Given the description of an element on the screen output the (x, y) to click on. 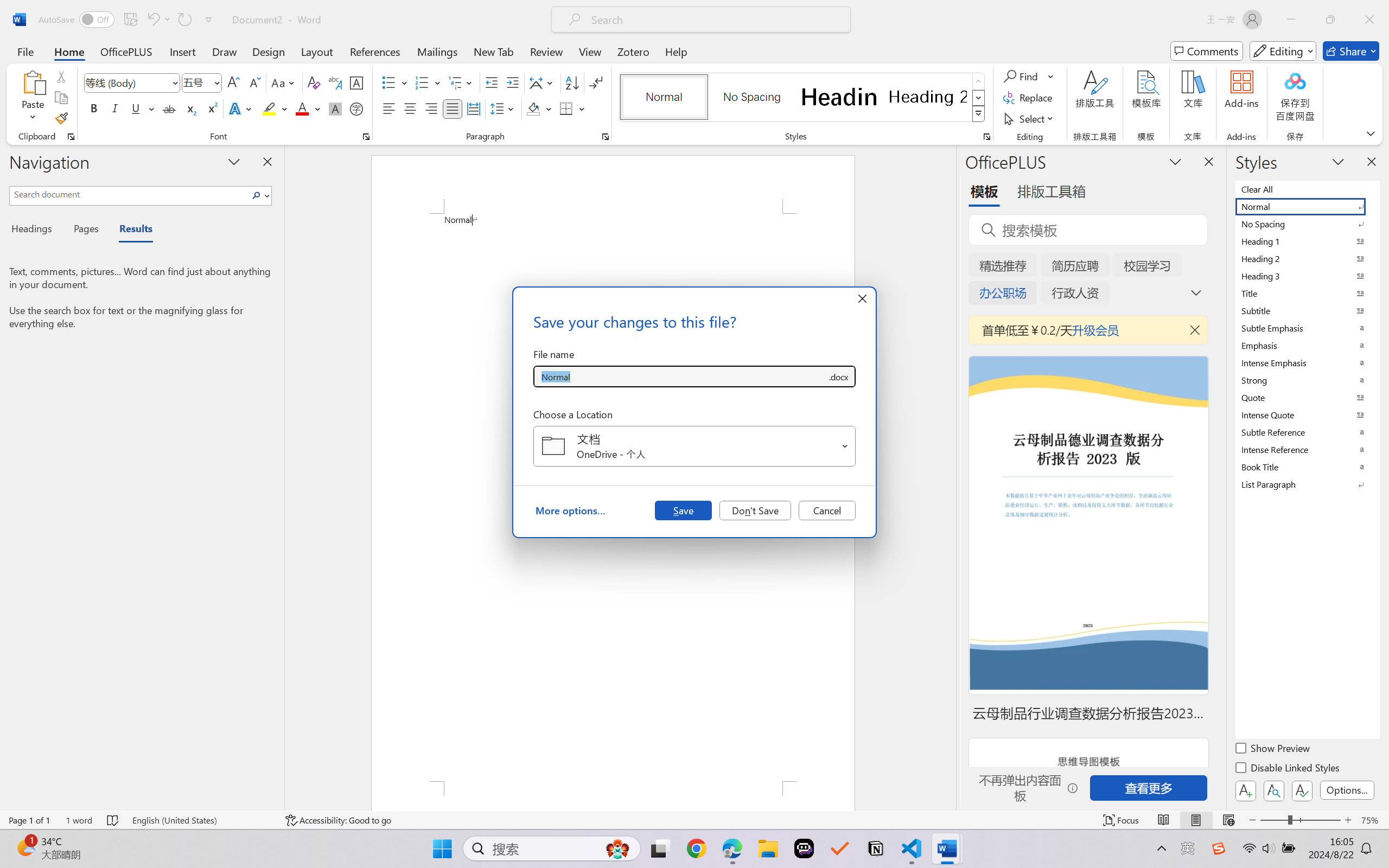
Center (409, 108)
Google Chrome (696, 848)
Font Color (308, 108)
Bullets (395, 82)
Open (844, 446)
Class: Image (1218, 847)
Heading 3 (1306, 275)
File Tab (24, 51)
Find (1022, 75)
Headings (35, 229)
